Given the description of an element on the screen output the (x, y) to click on. 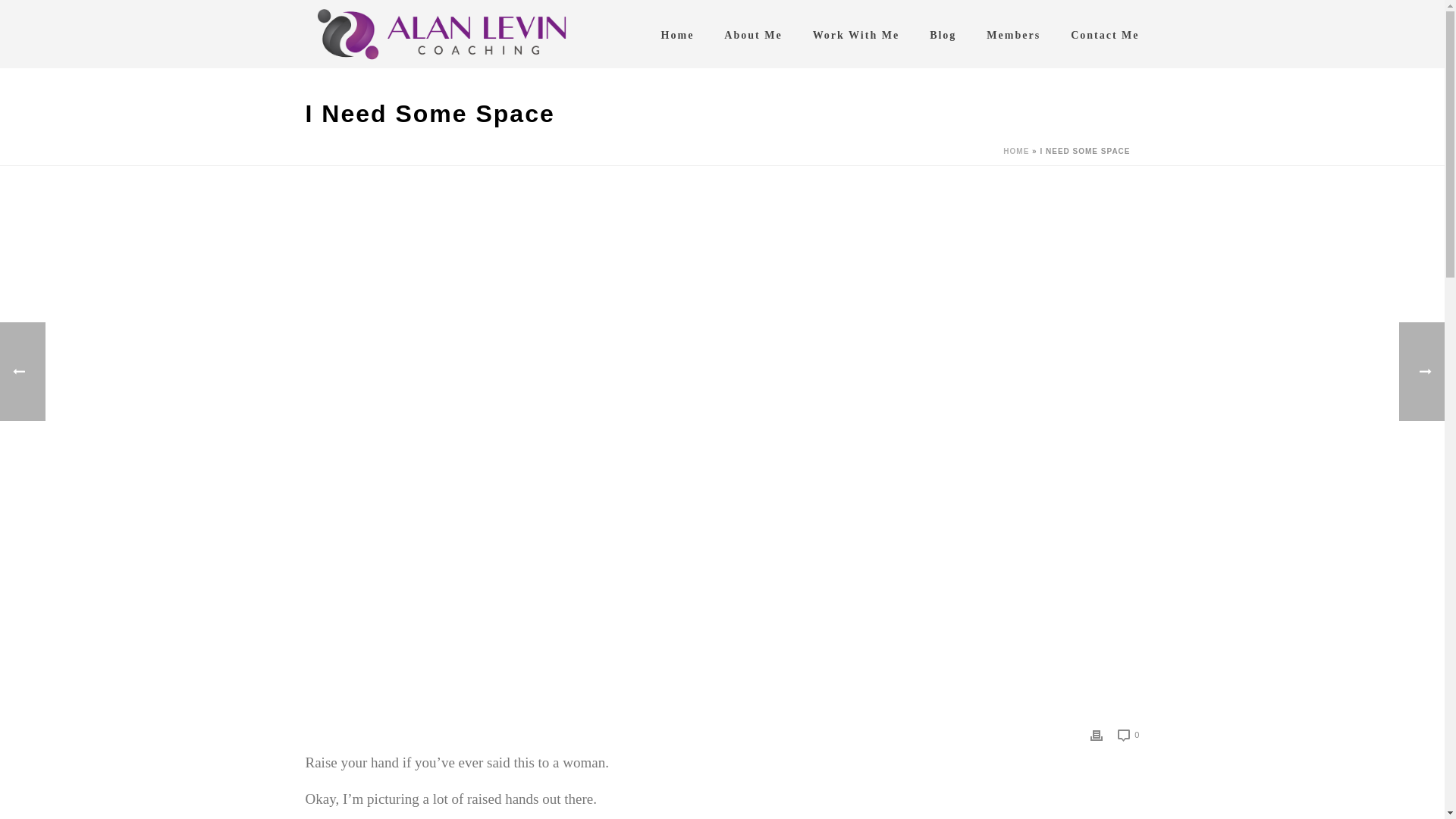
About Me (752, 33)
Helping Men Take Back Control of their Dating Life (441, 33)
0 (1128, 734)
HOME (1016, 151)
Work With Me (856, 33)
Members (1013, 33)
Members (1013, 33)
Contact Me (1104, 33)
